Given the description of an element on the screen output the (x, y) to click on. 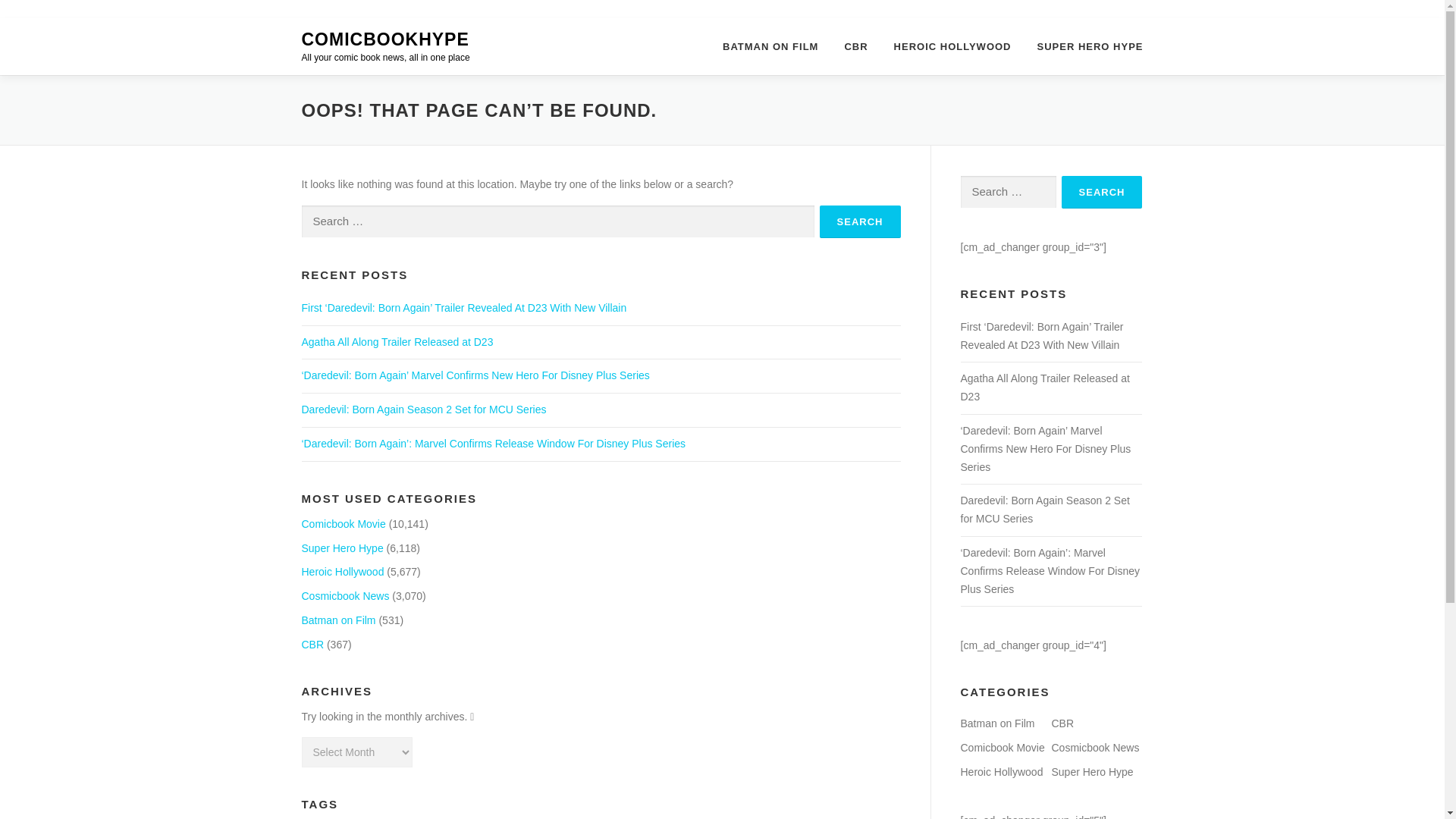
Batman on Film (338, 620)
Comicbook Movie (343, 523)
Search (860, 221)
Heroic Hollywood (342, 571)
Cosmicbook News (345, 595)
CBR (312, 644)
Skip to content (34, 27)
COMICBOOKHYPE (384, 39)
BATMAN ON FILM (770, 46)
Search (1101, 192)
